Given the description of an element on the screen output the (x, y) to click on. 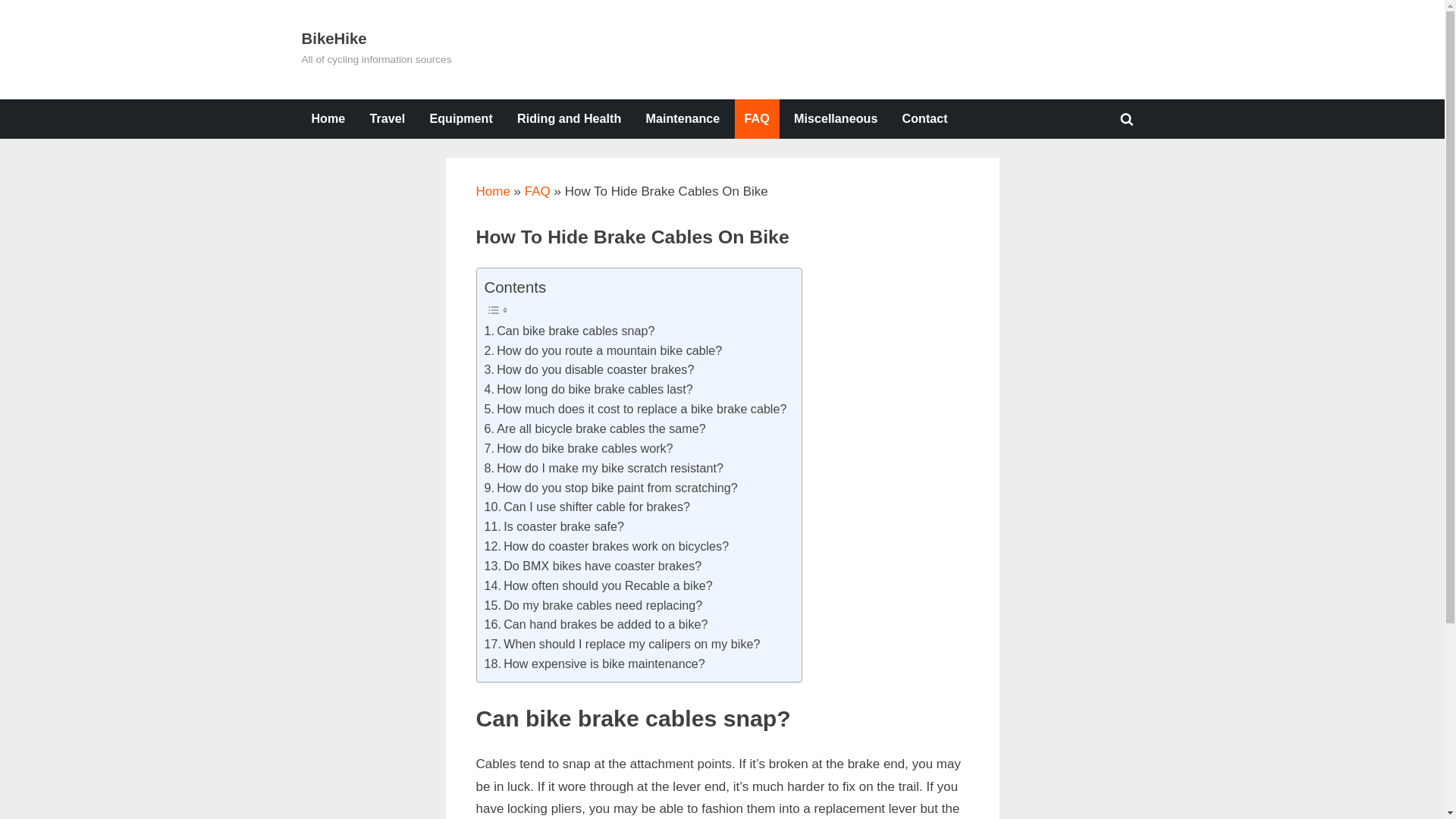
Are all bicycle brake cables the same? (593, 428)
How do coaster brakes work on bicycles? (606, 546)
Can bike brake cables snap? (568, 331)
How do bike brake cables work? (577, 448)
Contact (925, 118)
Do my brake cables need replacing? (592, 605)
Toggle search form (1126, 118)
FAQ (756, 118)
How expensive is bike maintenance? (593, 664)
BikeHike (333, 38)
Home (328, 118)
Can hand brakes be added to a bike? (595, 624)
Can bike brake cables snap? (568, 331)
How long do bike brake cables last? (588, 389)
Miscellaneous (835, 118)
